Given the description of an element on the screen output the (x, y) to click on. 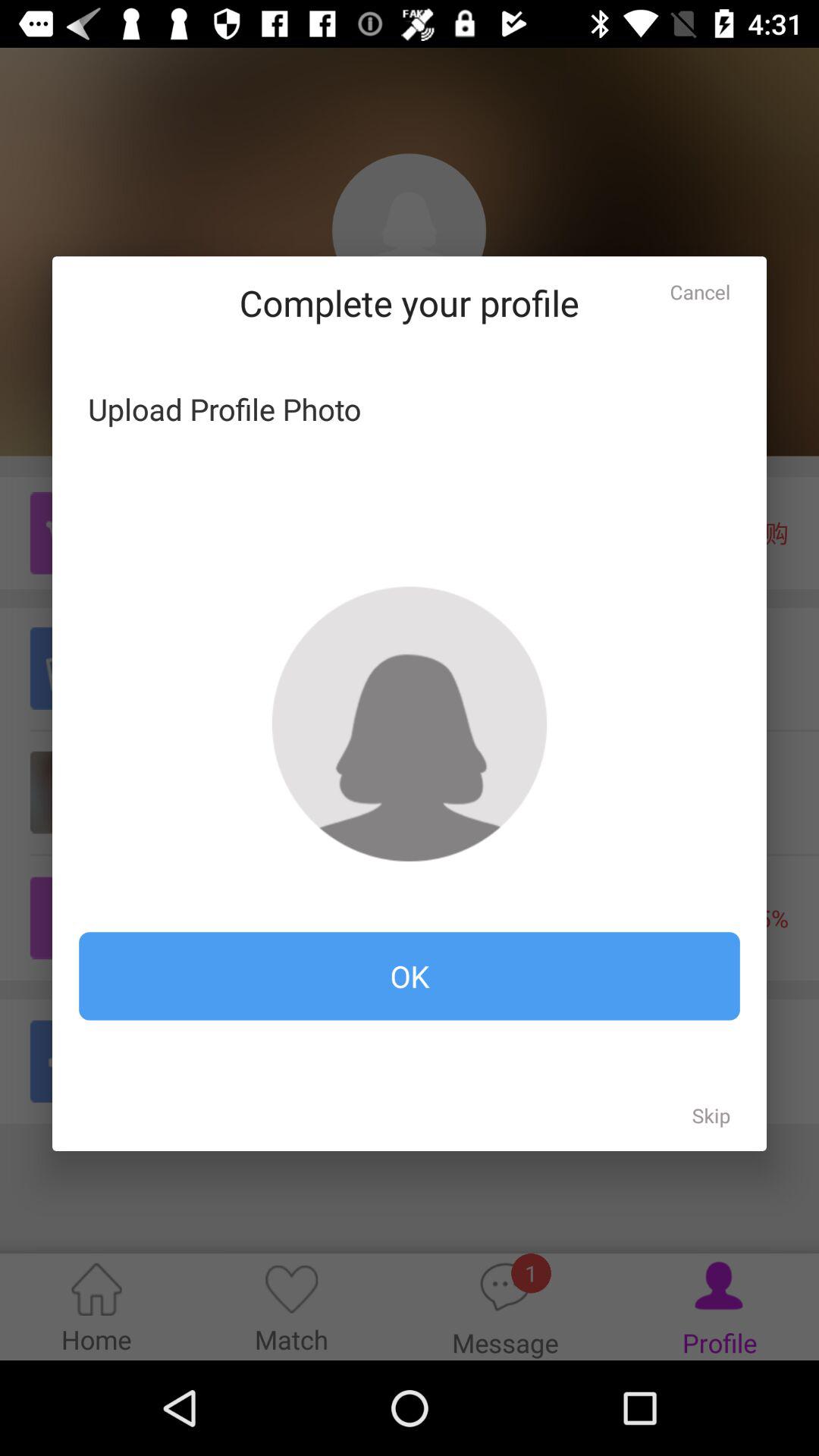
open the cancel icon (700, 291)
